Given the description of an element on the screen output the (x, y) to click on. 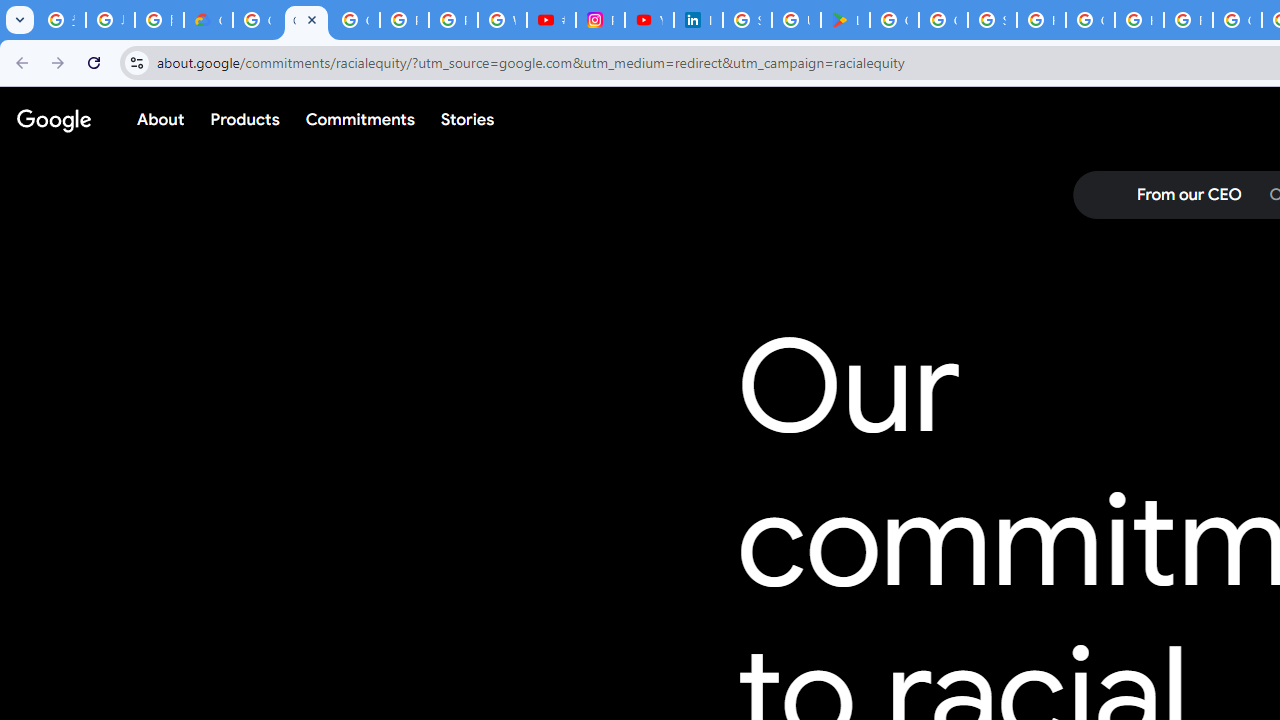
Sign in - Google Accounts (992, 20)
View site information (136, 62)
Privacy Help Center - Policies Help (452, 20)
Google (54, 119)
Last Shelter: Survival - Apps on Google Play (845, 20)
Identity verification via Persona | LinkedIn Help (698, 20)
Products (245, 119)
About (161, 119)
